Given the description of an element on the screen output the (x, y) to click on. 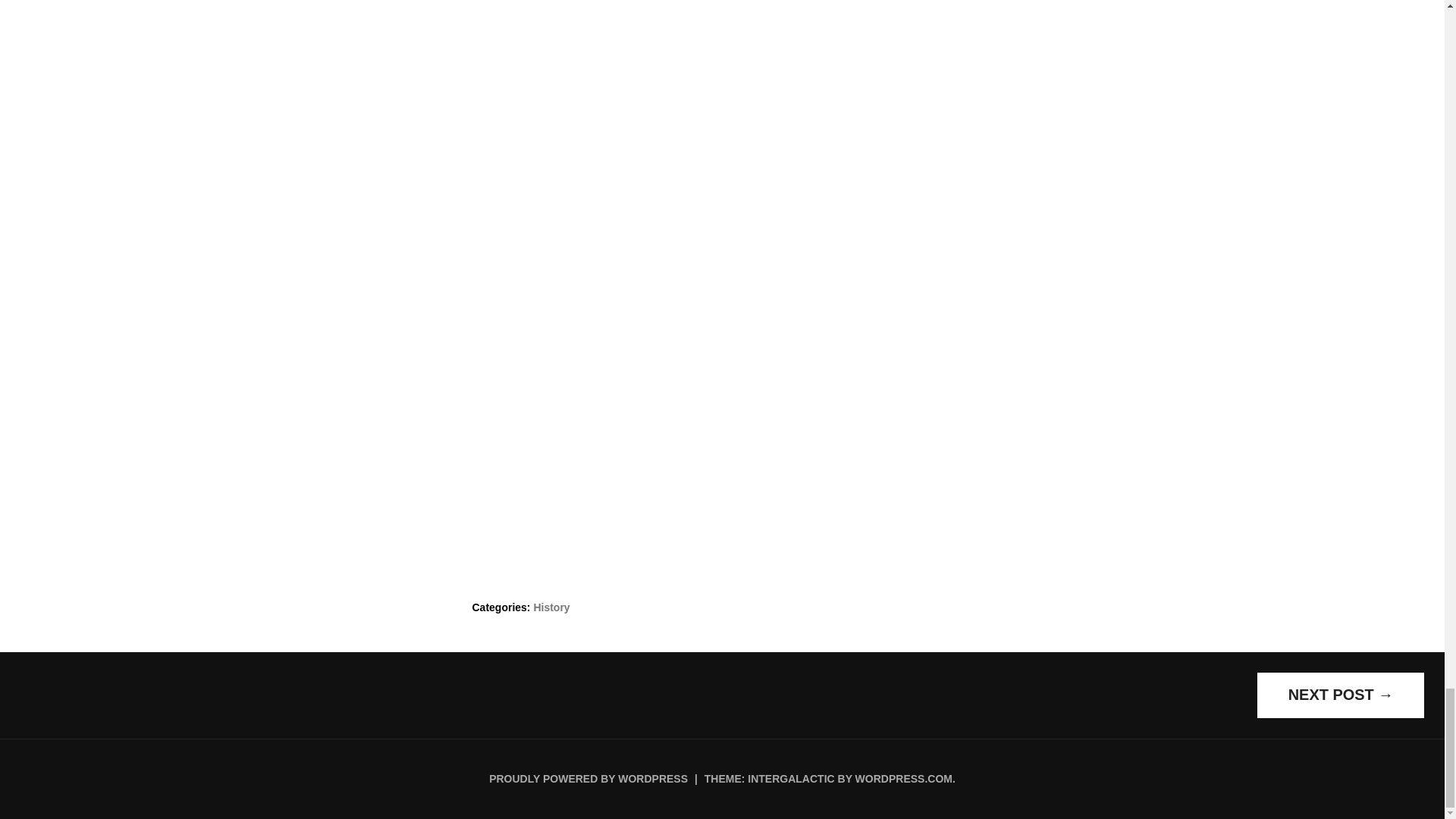
History (550, 607)
PROUDLY POWERED BY WORDPRESS (588, 778)
WORDPRESS.COM (904, 778)
